Given the description of an element on the screen output the (x, y) to click on. 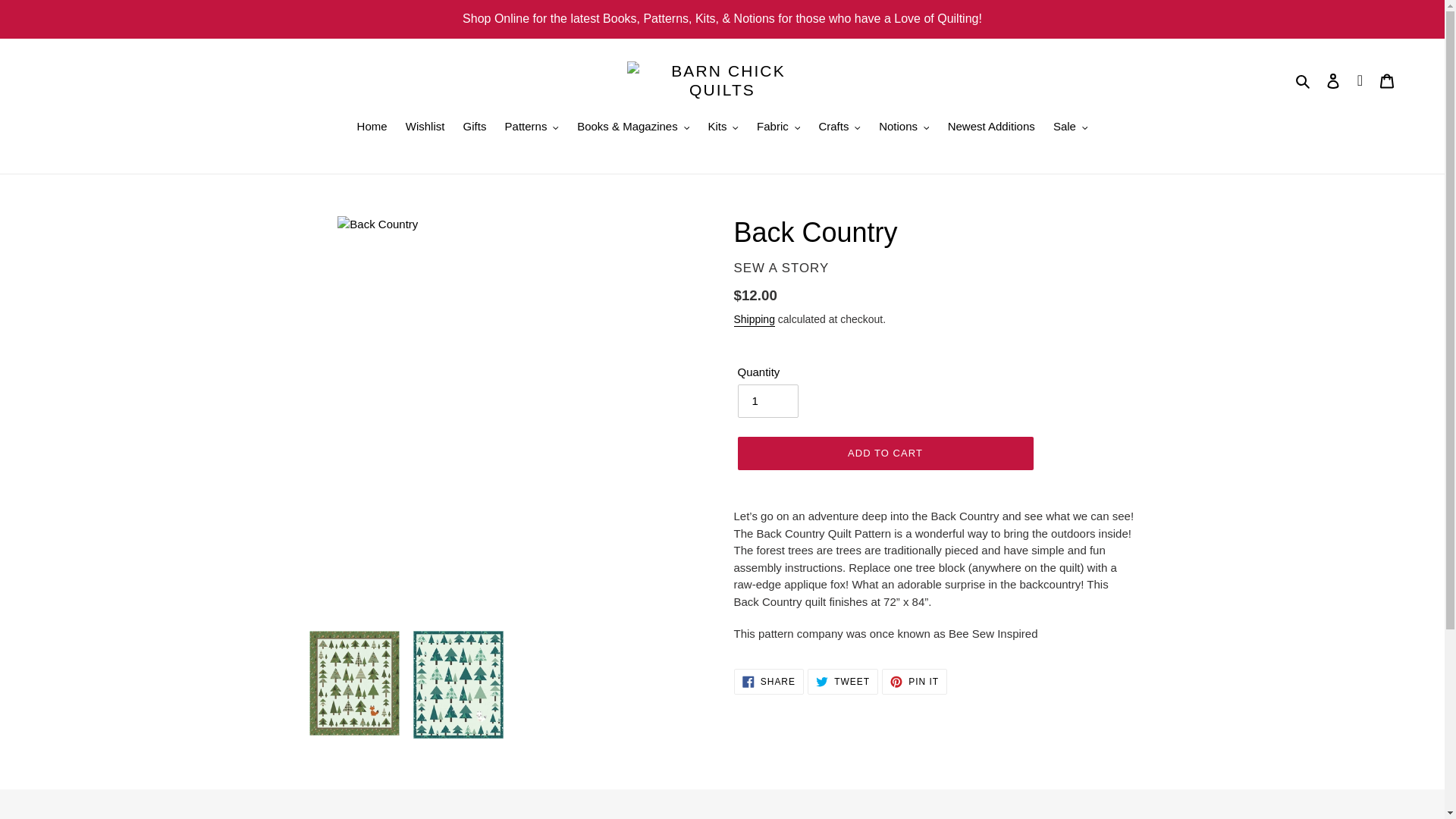
Search (1303, 80)
1 (766, 400)
Cart (1387, 80)
Log in (1333, 80)
